Given the description of an element on the screen output the (x, y) to click on. 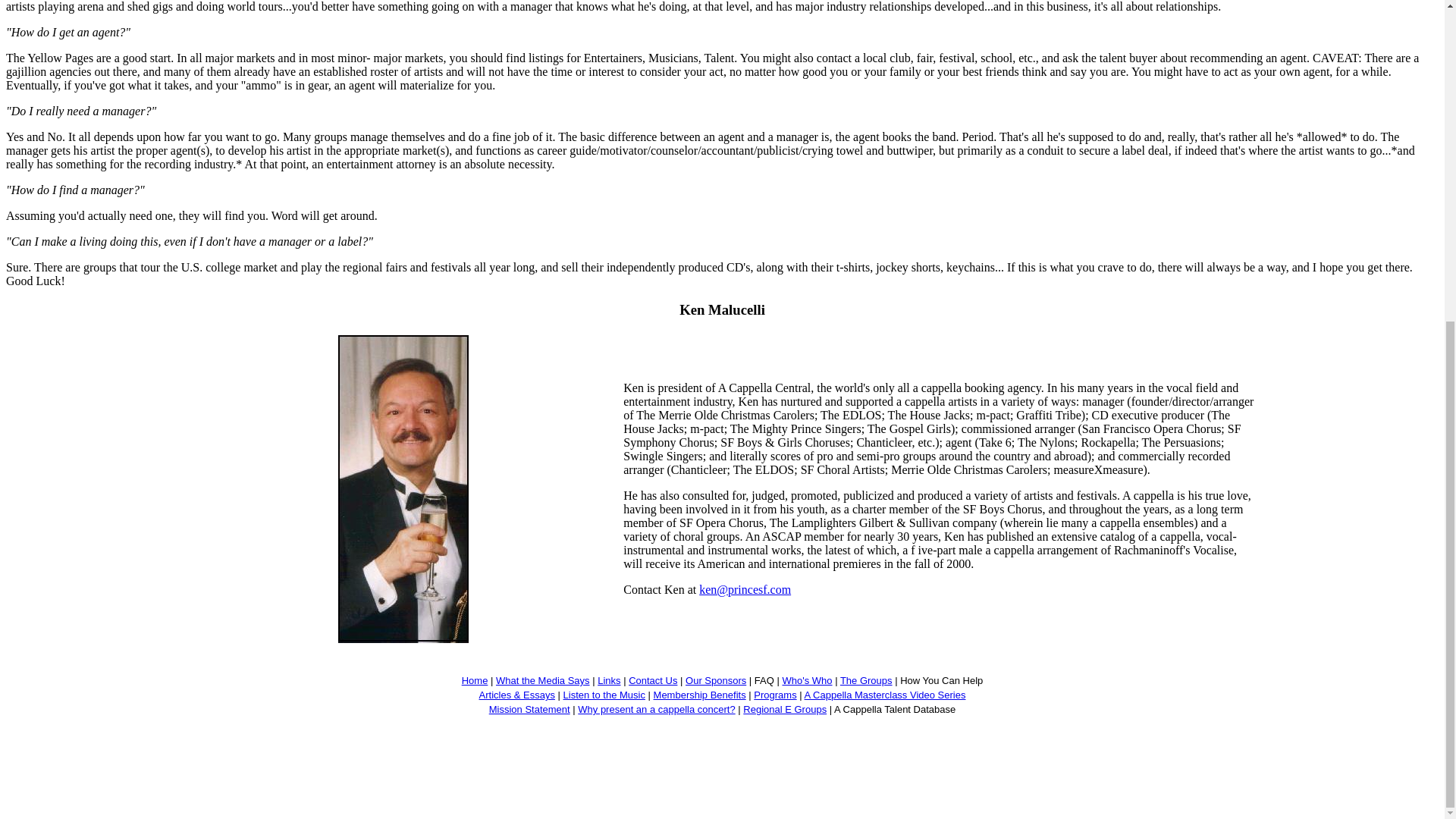
Why present an a cappella concert? (656, 708)
Who's Who (806, 680)
Membership Benefits (699, 695)
Regional E Groups (784, 708)
Listen to the Music (604, 695)
Contact Us (652, 680)
A Cappella Masterclass Video Series (885, 695)
What the Media Says (542, 680)
Home (474, 680)
Programs (775, 695)
